Given the description of an element on the screen output the (x, y) to click on. 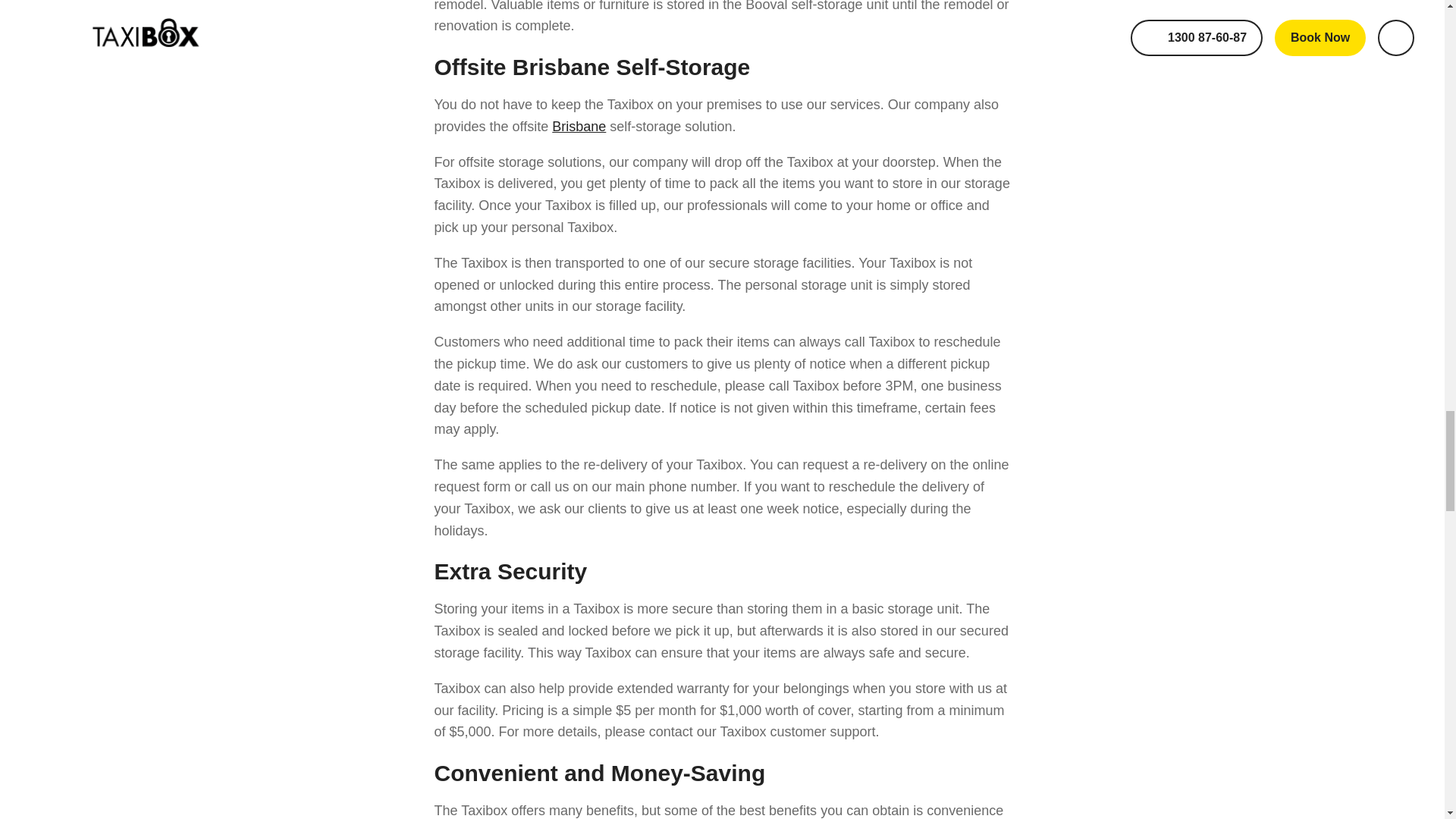
Self Storage Brisbane (578, 126)
